Given the description of an element on the screen output the (x, y) to click on. 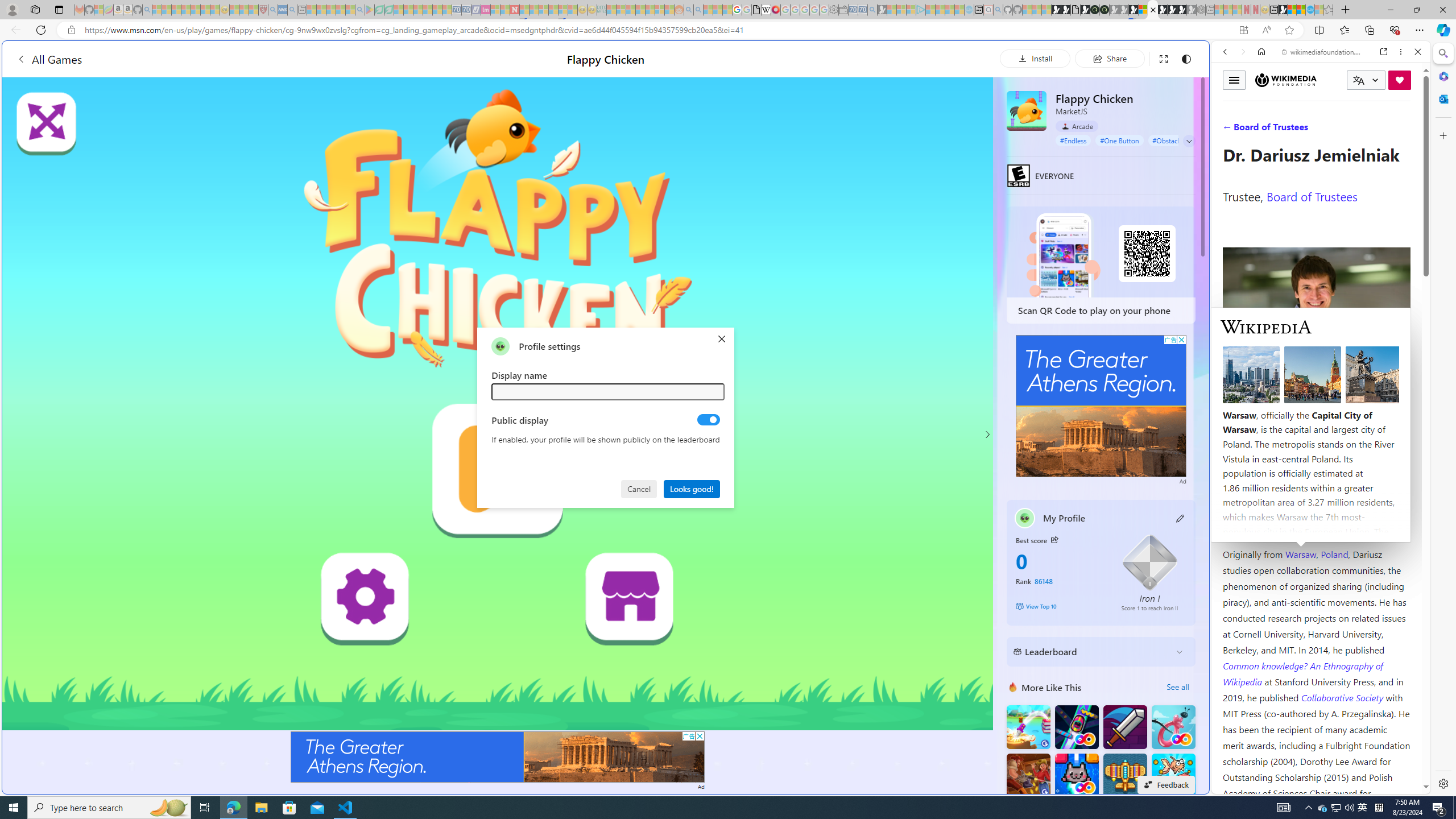
AutomationID: canvas (497, 403)
Donate now (1399, 80)
Toggle menu (1233, 80)
google - Search - Sleeping (359, 9)
